Given the description of an element on the screen output the (x, y) to click on. 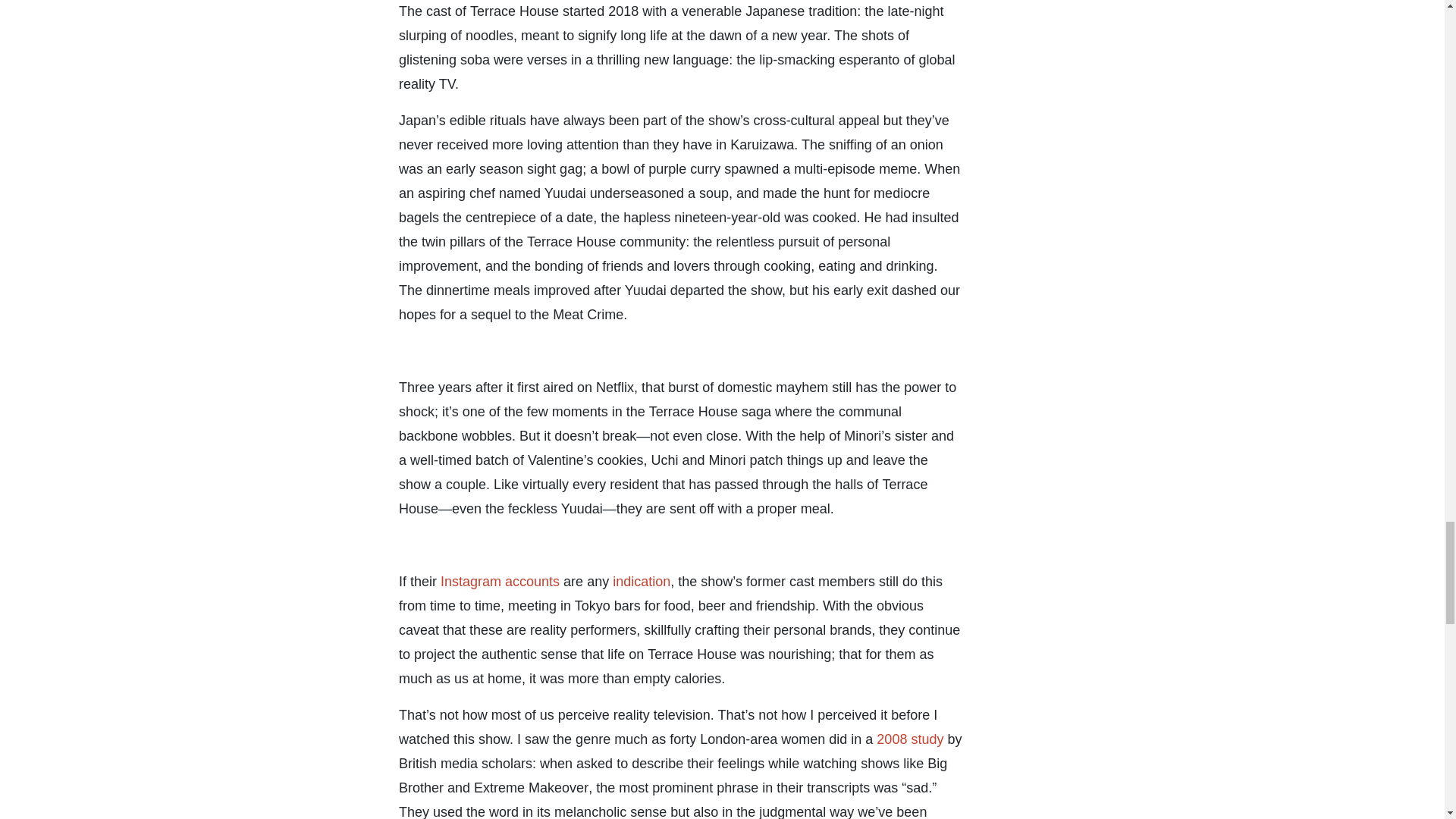
Instagram accounts (500, 581)
2008 study (909, 739)
indication (638, 581)
